Given the description of an element on the screen output the (x, y) to click on. 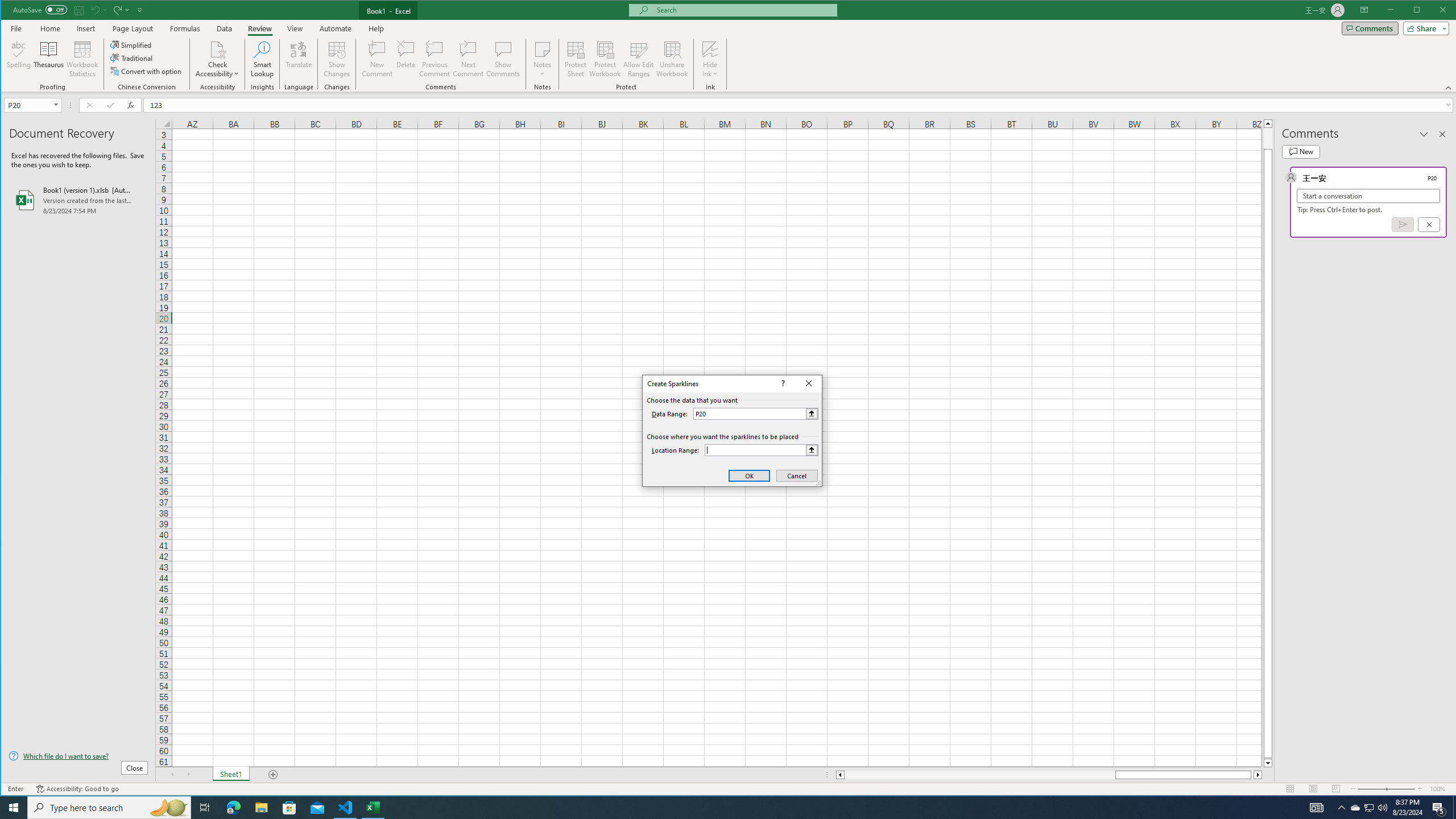
Show Comments (502, 59)
New comment (1300, 151)
Maximize (1368, 807)
Hide Ink (1432, 11)
Notification Chevron (710, 48)
Action Center, 5 new notifications (1341, 807)
Check Accessibility (1439, 807)
